Given the description of an element on the screen output the (x, y) to click on. 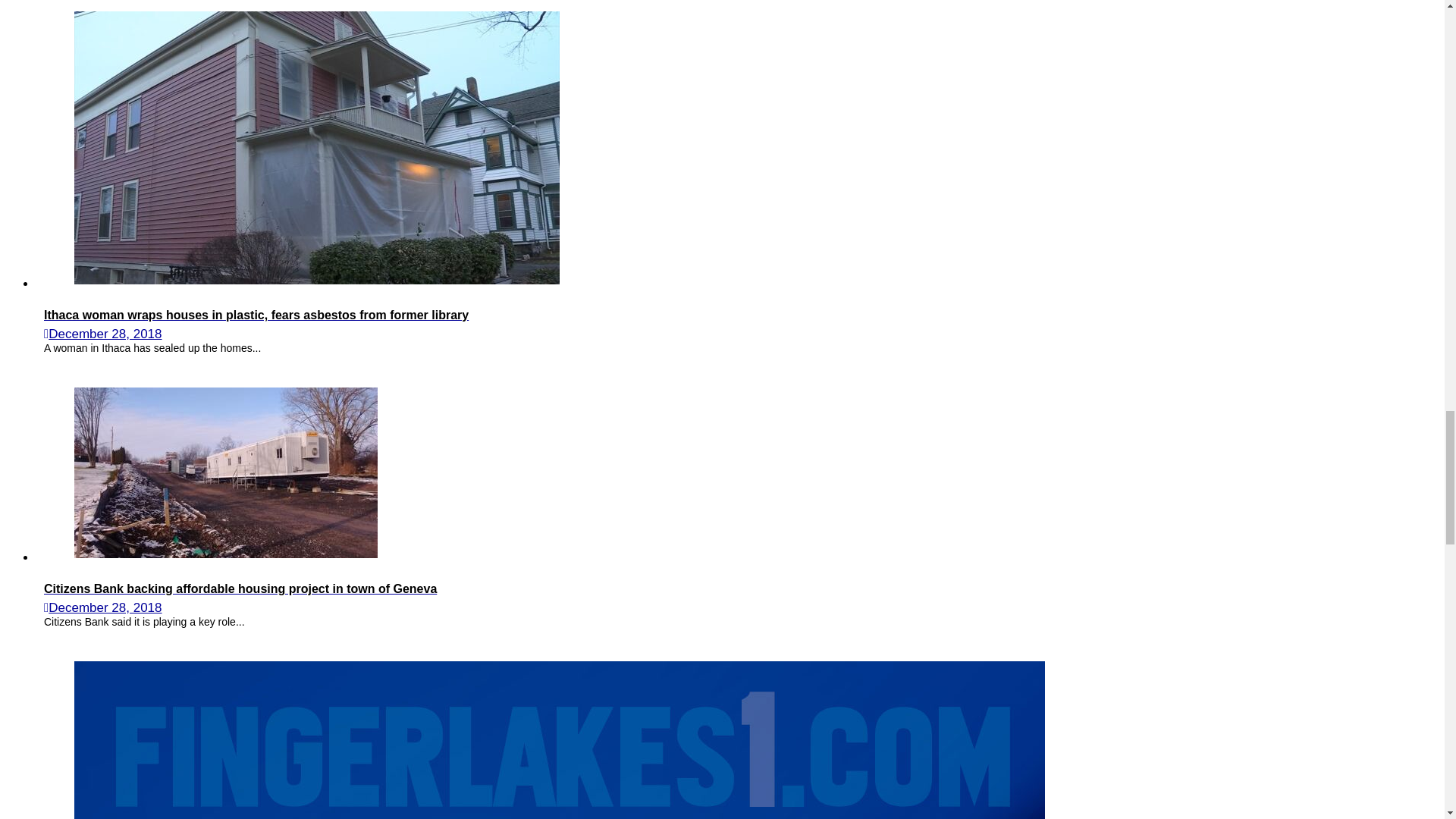
December 28, 2018 (104, 333)
December 28, 2018 (104, 607)
